Given the description of an element on the screen output the (x, y) to click on. 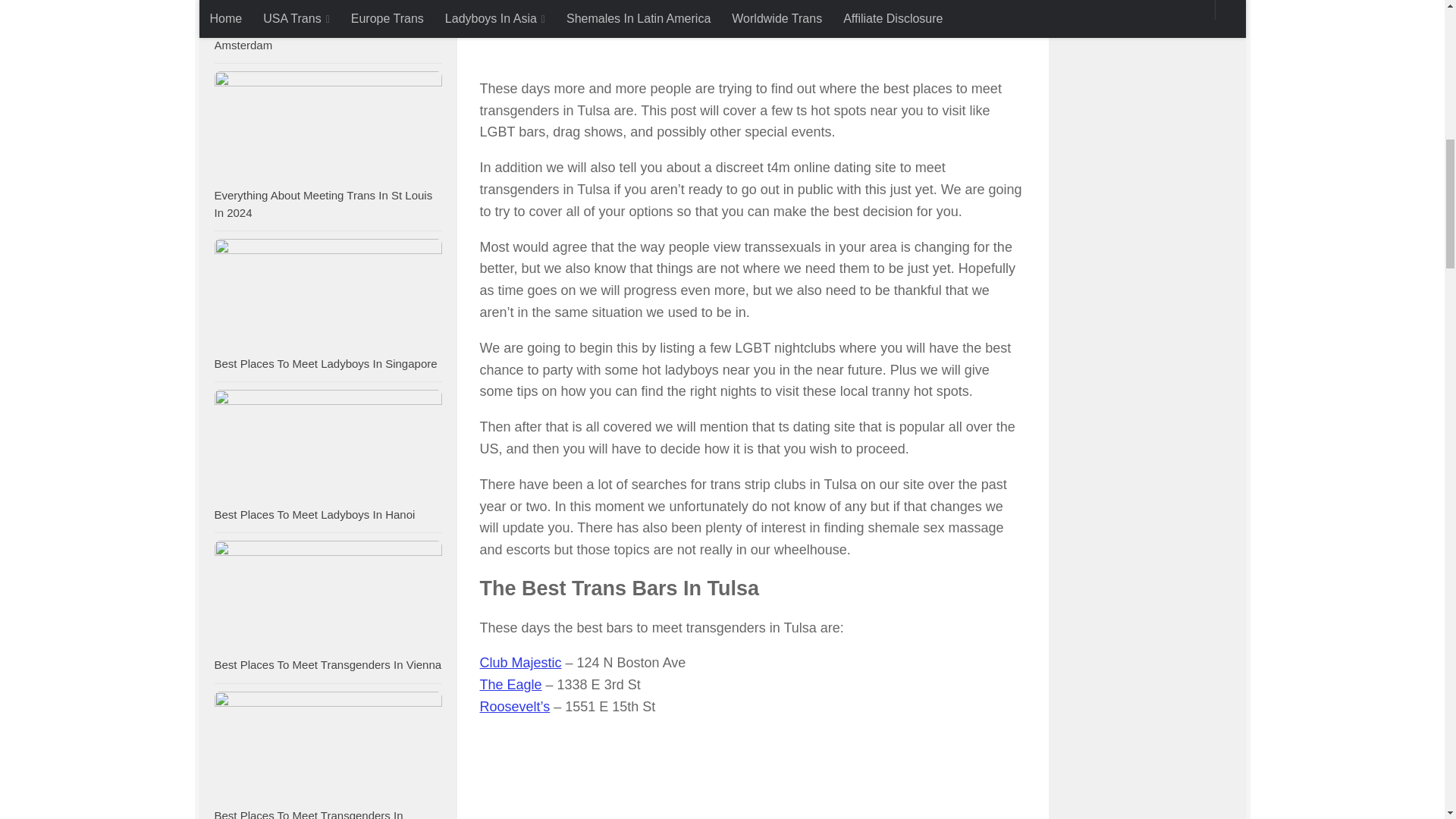
Club Majestic (519, 662)
The Eagle (510, 684)
